Given the description of an element on the screen output the (x, y) to click on. 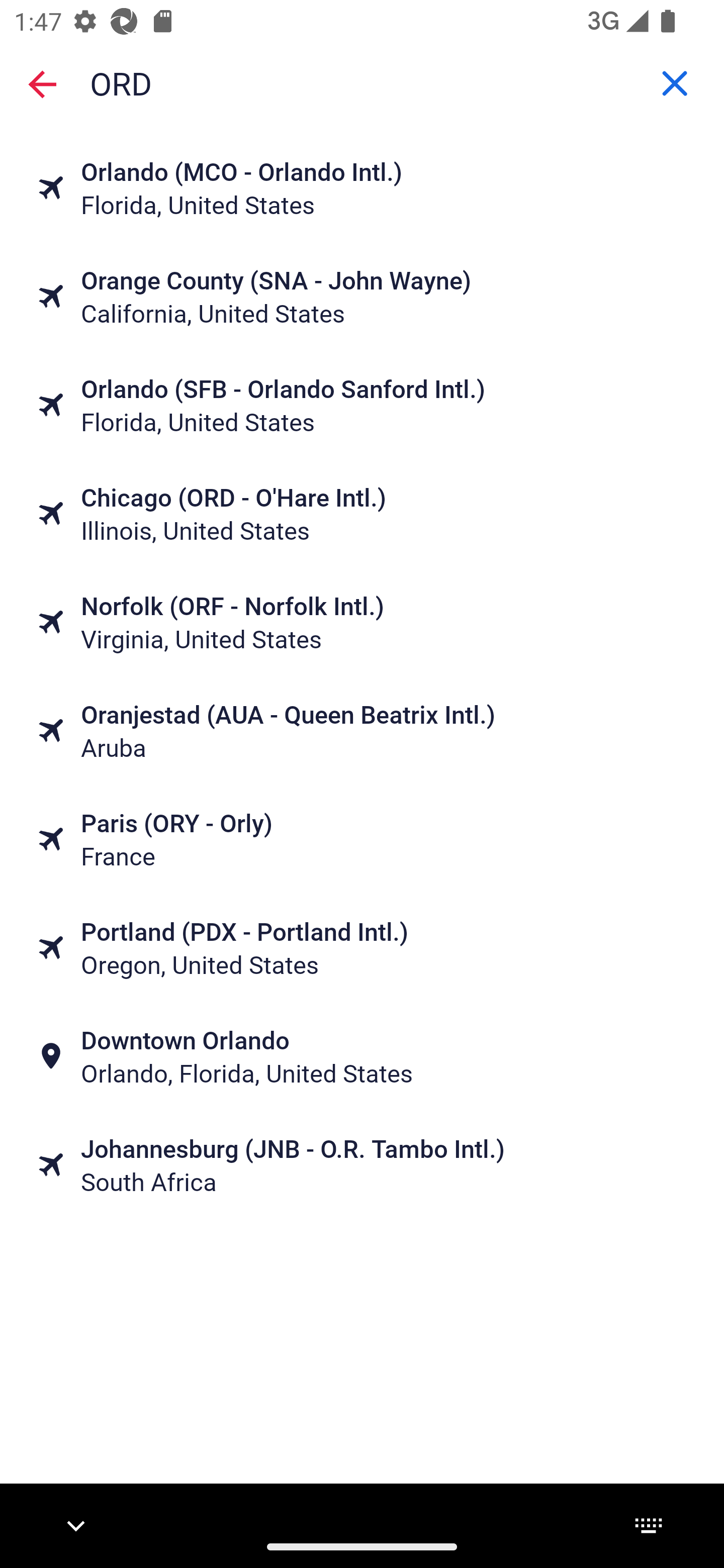
Close search screen (42, 84)
Clear Drop-off (674, 82)
Drop-off, ORD (361, 82)
